Given the description of an element on the screen output the (x, y) to click on. 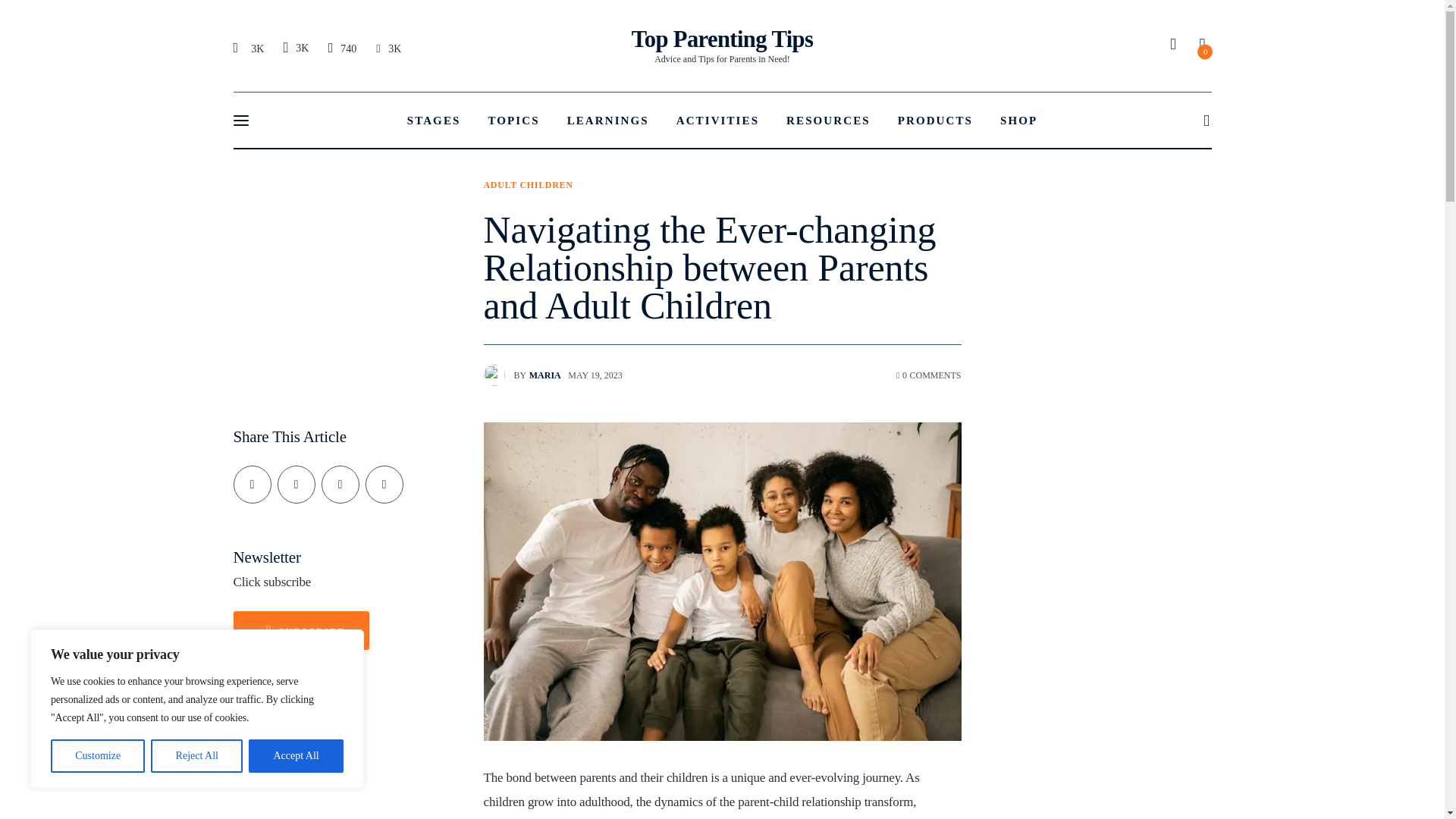
Accept All (722, 45)
Copy URL to clipboard (295, 756)
3K (384, 484)
Reject All (295, 47)
3K (197, 756)
Customize (249, 48)
740 (97, 756)
3K (342, 48)
STAGES (388, 48)
